Given the description of an element on the screen output the (x, y) to click on. 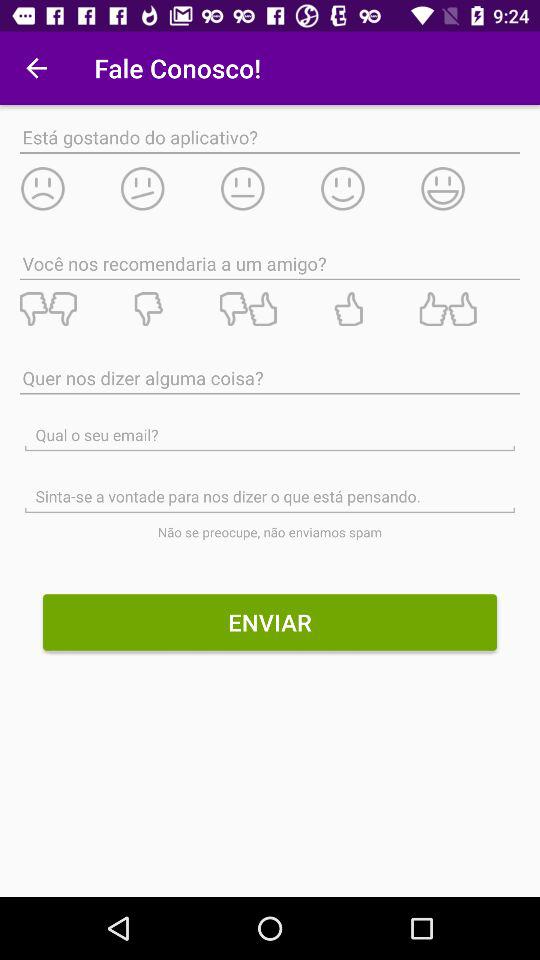
emoticon for feedback the app (369, 188)
